Given the description of an element on the screen output the (x, y) to click on. 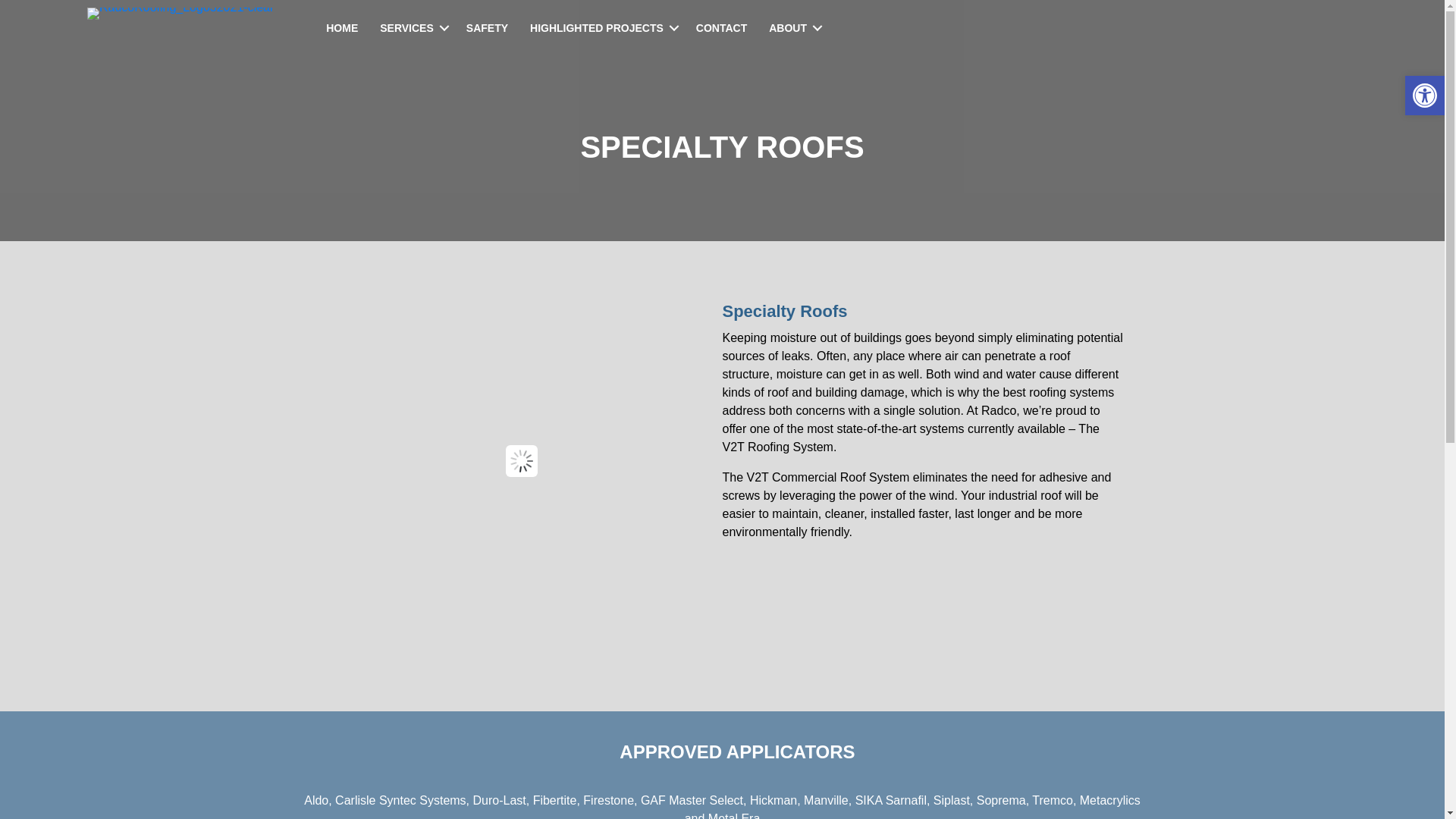
SAFETY (486, 28)
HOME (341, 28)
ABOUT (793, 28)
The V2T Roofing System. (910, 437)
SERVICES (411, 28)
Keeping moisture out of buildings (811, 337)
CONTACT (721, 28)
Accessibility Tools (1424, 95)
HIGHLIGHTED PROJECTS (601, 28)
